Given the description of an element on the screen output the (x, y) to click on. 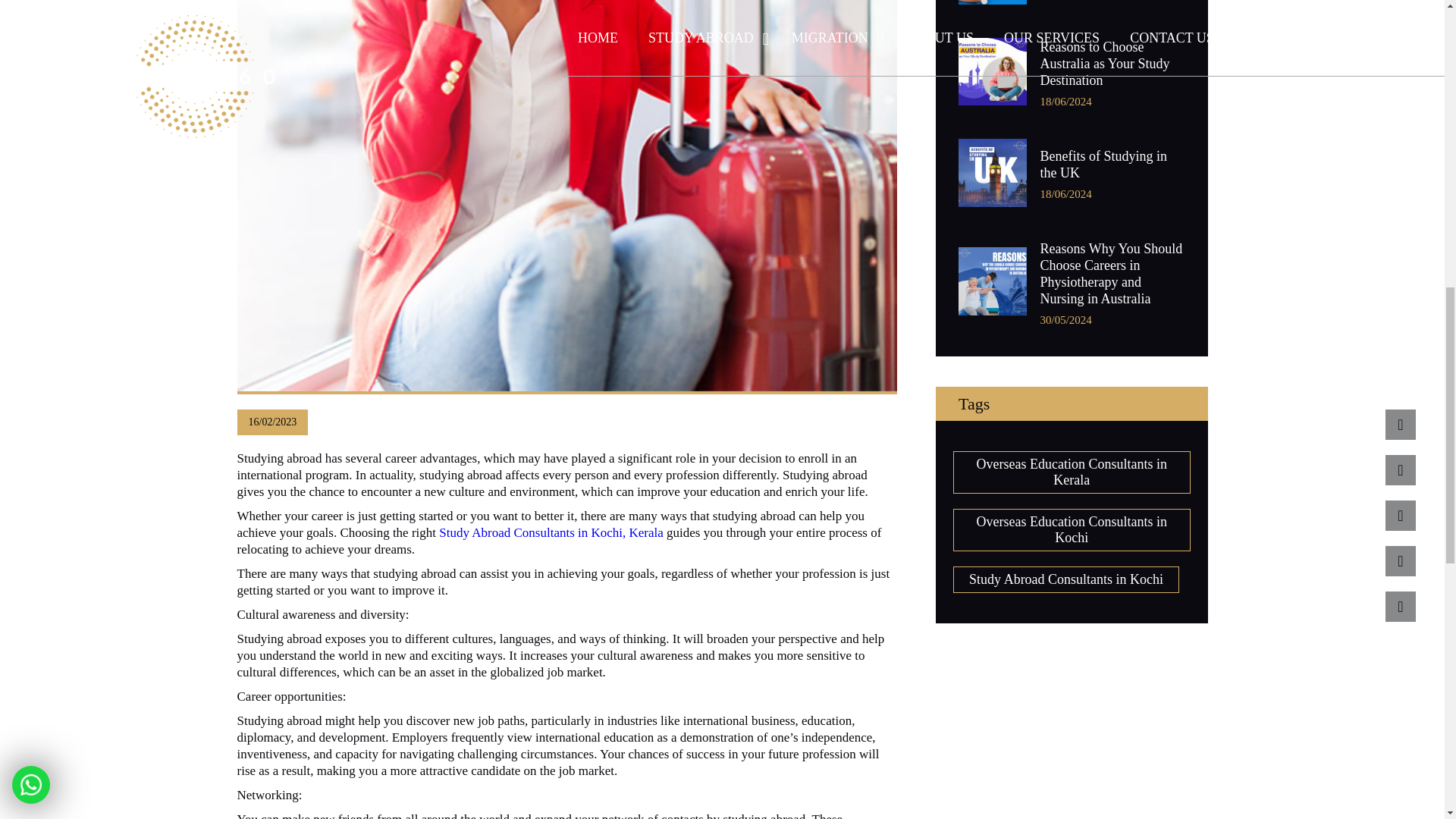
Study Abroad Consultants in Kochi, Kerala (551, 532)
Overseas Education Consultants in Kochi (1071, 529)
Overseas Education Consultants in Kerala (1071, 472)
Study Abroad Consultants in Kochi (1066, 579)
Overseas Education Consultants in Kerala (1071, 472)
Reasons to Choose Australia as Your Study Destination (1113, 63)
Benefits of Studying in the UK (1113, 164)
